Given the description of an element on the screen output the (x, y) to click on. 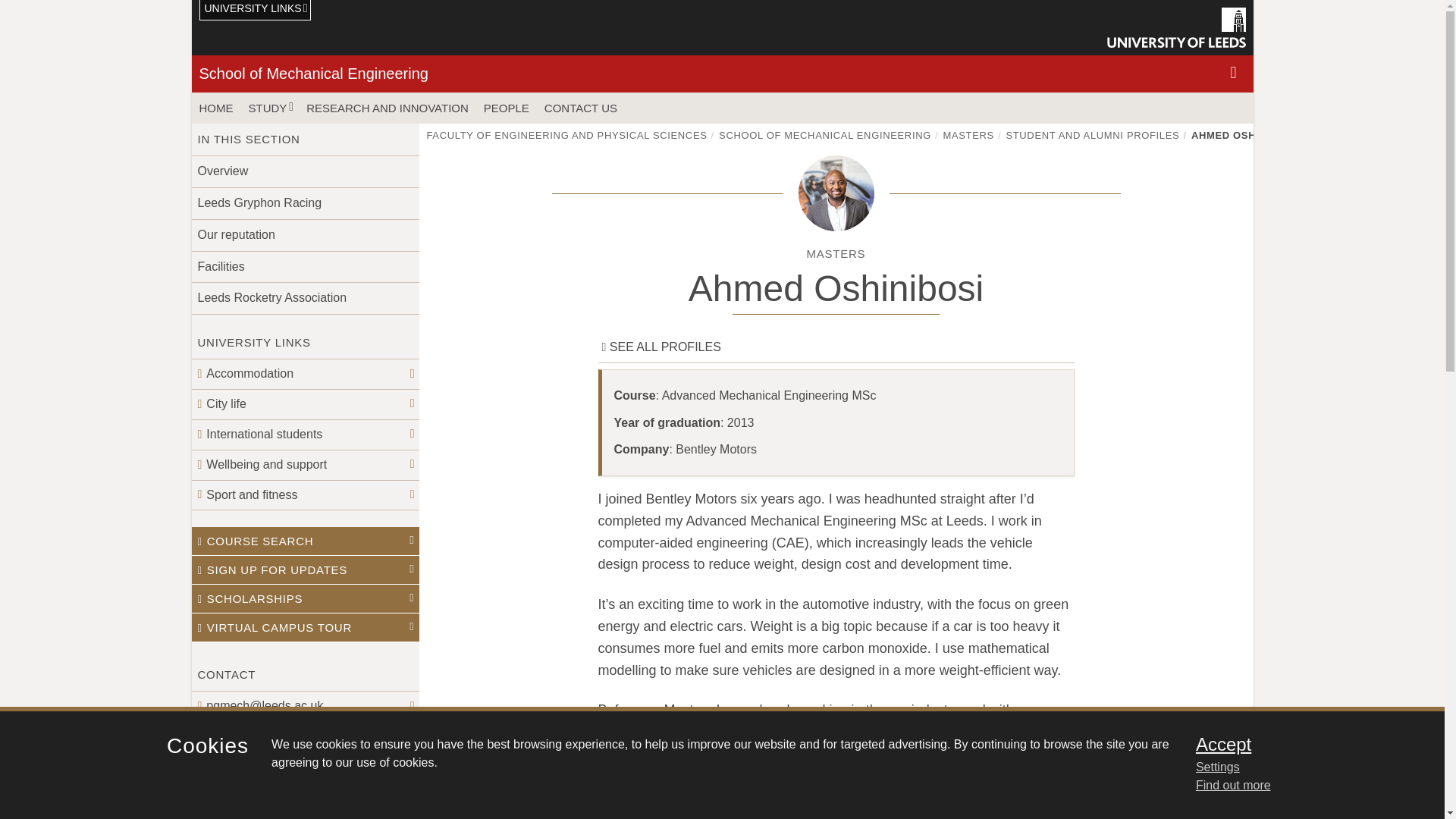
Accept (1300, 744)
University of Leeds homepage (1176, 27)
Settings (1300, 767)
Find out more (1233, 784)
UNIVERSITY LINKS (254, 10)
